Given the description of an element on the screen output the (x, y) to click on. 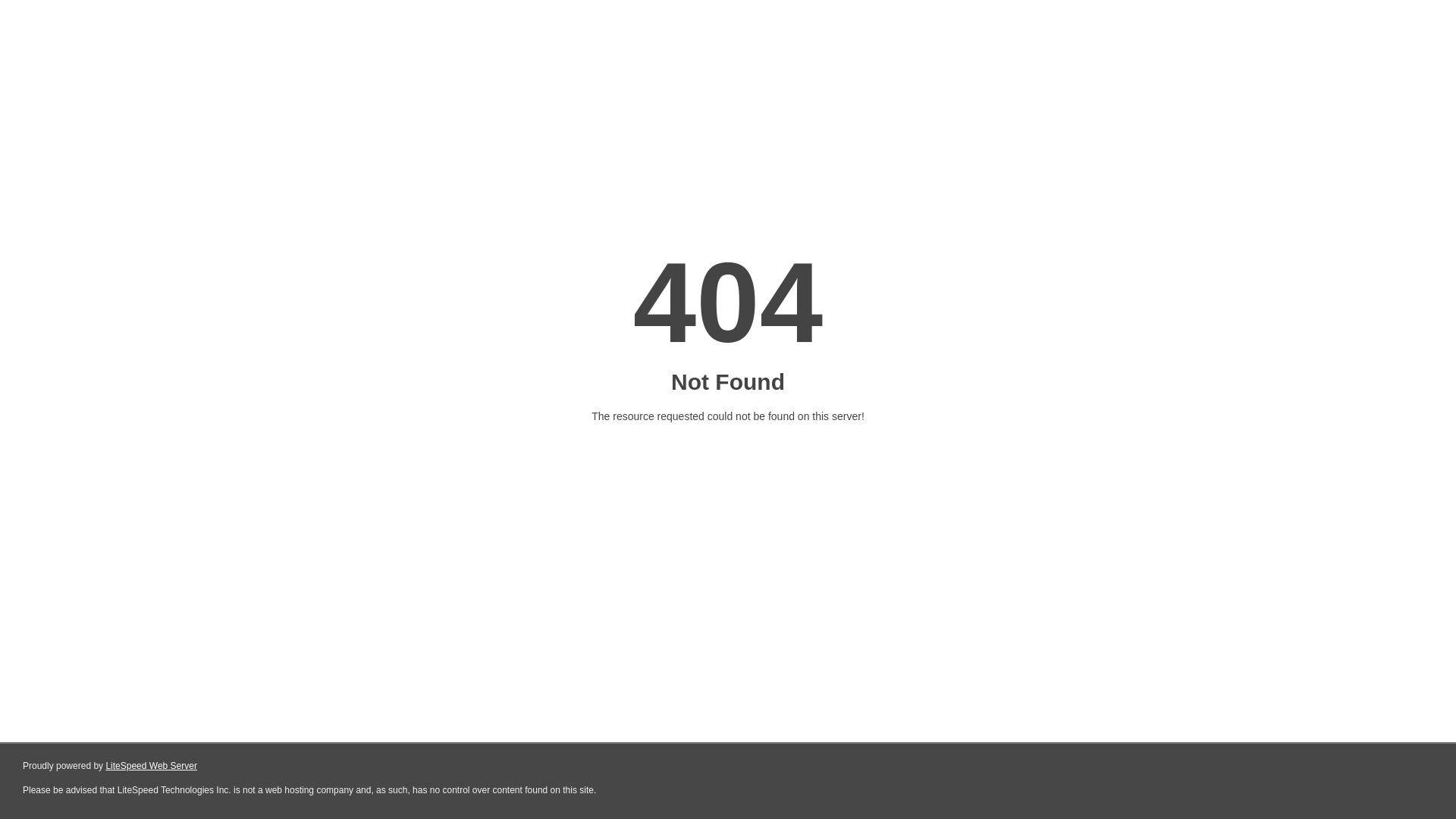
LiteSpeed Web Server Element type: text (151, 765)
